Given the description of an element on the screen output the (x, y) to click on. 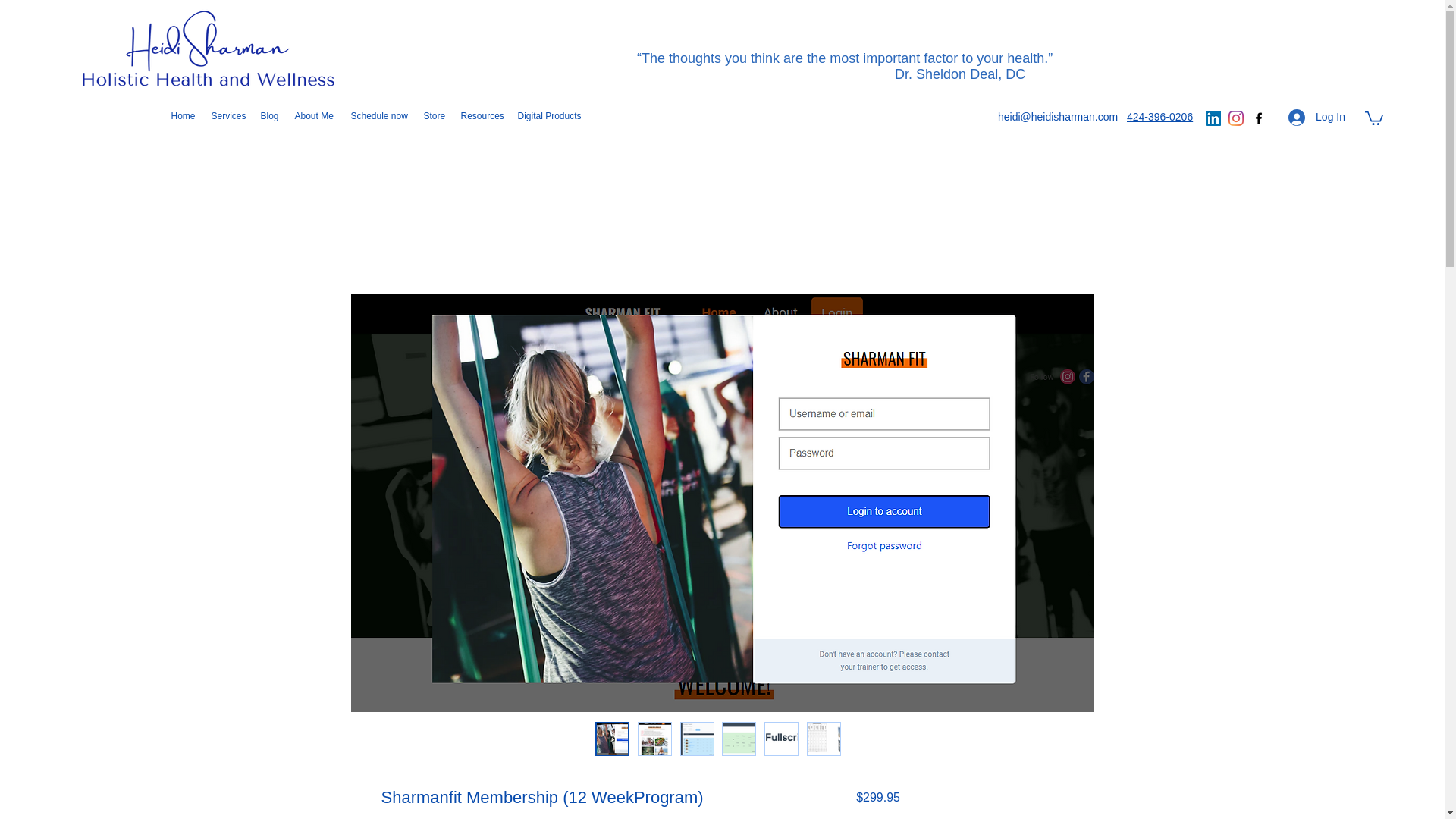
Schedule now (378, 115)
About Me (314, 115)
Resources (481, 115)
Digital Products (549, 115)
Log In (1316, 117)
Home (183, 115)
Store (433, 115)
424-396-0206 (1159, 116)
Blog (269, 115)
